Given the description of an element on the screen output the (x, y) to click on. 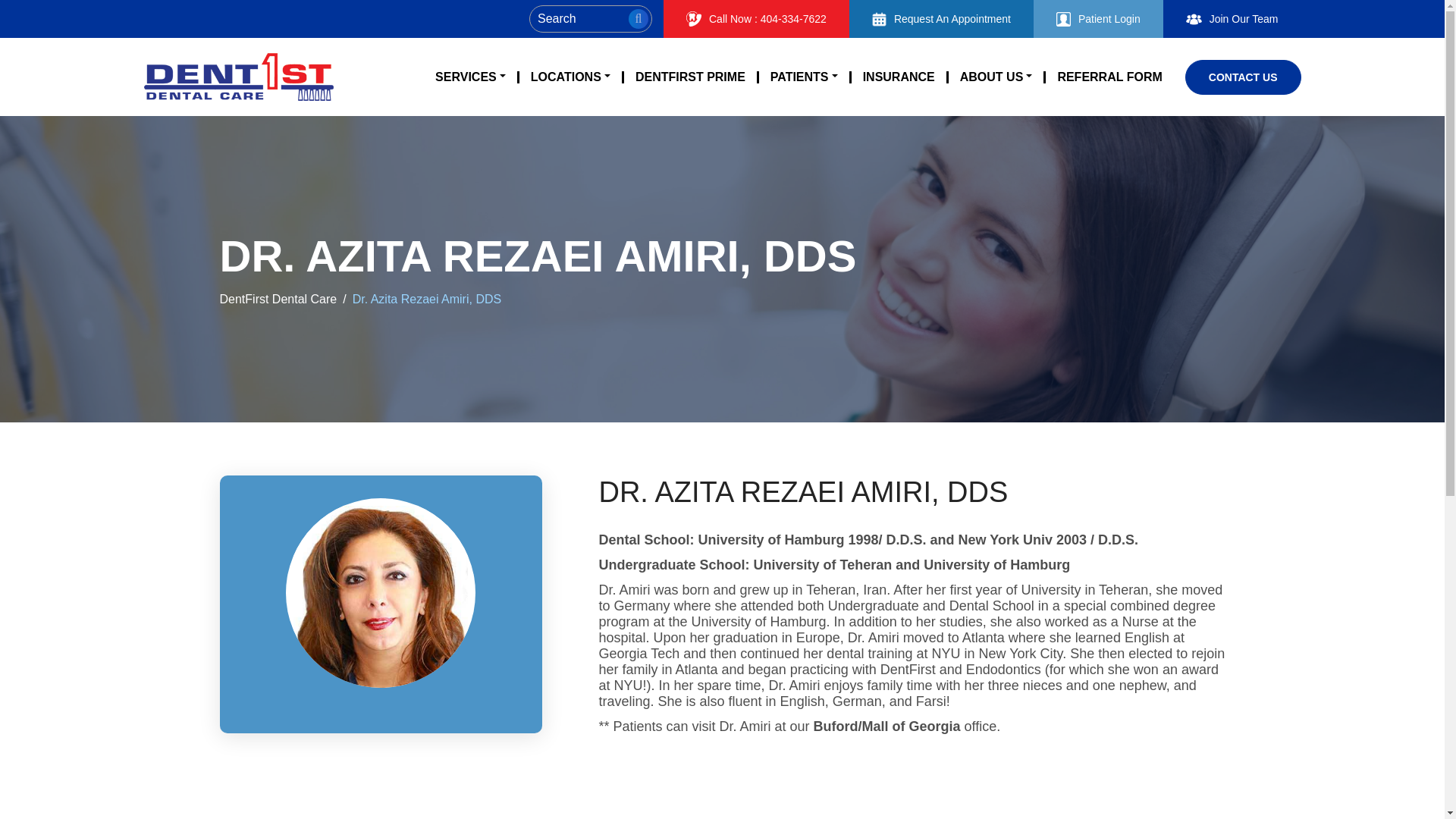
SERVICES (470, 77)
LOCATIONS (570, 77)
DENTFIRST PRIME (689, 77)
PATIENTS (804, 77)
Contact Us (1243, 76)
Request An Appointment (940, 18)
Call Now : 404-334-7622 (755, 18)
Join Our Team (1232, 18)
Patient Login (1098, 18)
